Given the description of an element on the screen output the (x, y) to click on. 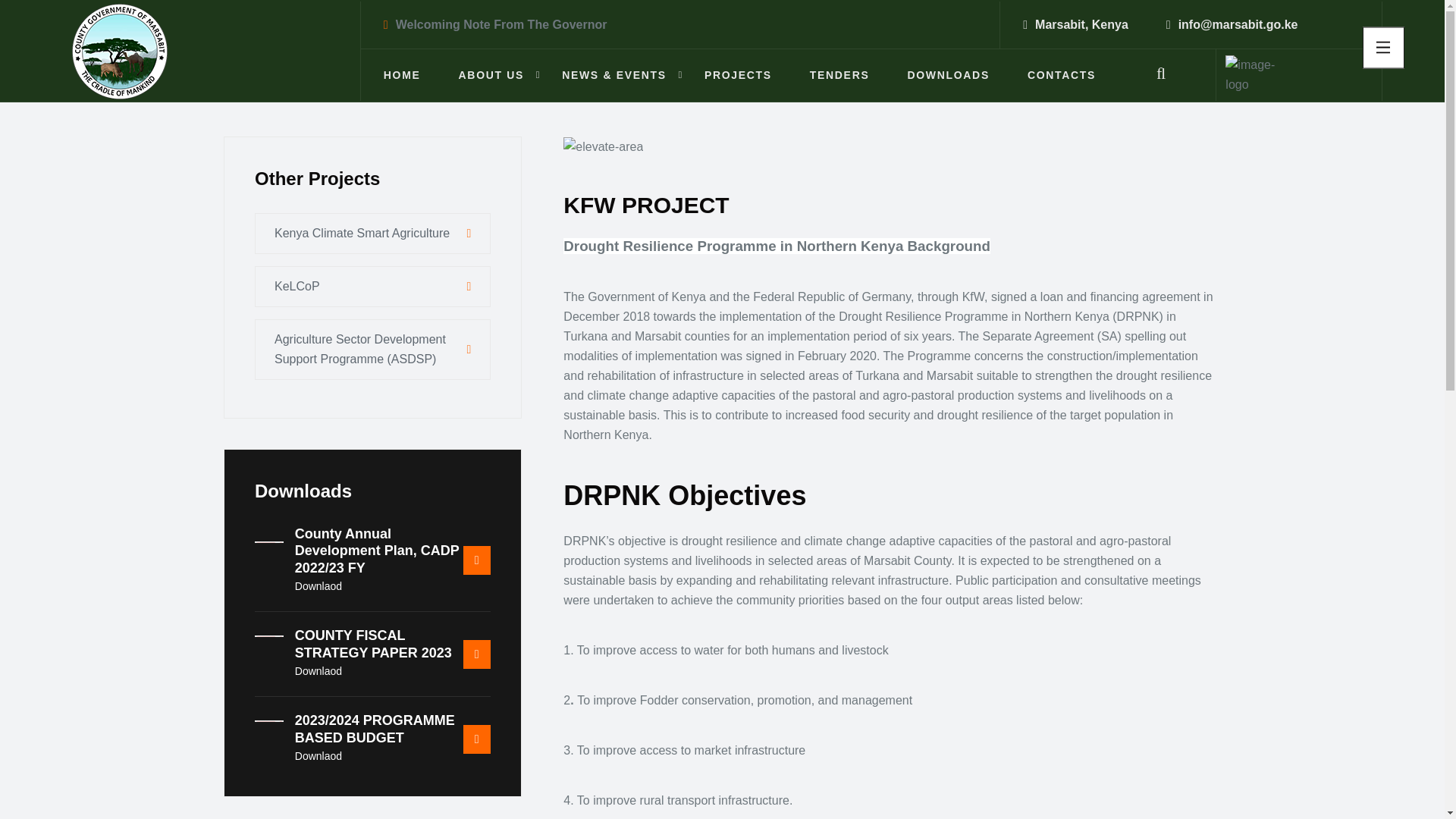
KeLCoP (372, 286)
Downlaod (318, 585)
PROJECTS (737, 74)
Marsabit, Kenya (1081, 24)
Welcoming Note From The Governor (501, 24)
ABOUT US (491, 73)
CONTACTS (1061, 74)
DOWNLOADS (947, 74)
TENDERS (839, 74)
Downlaod (318, 670)
HOME (402, 74)
Kenya Climate Smart Agriculture (372, 232)
